Given the description of an element on the screen output the (x, y) to click on. 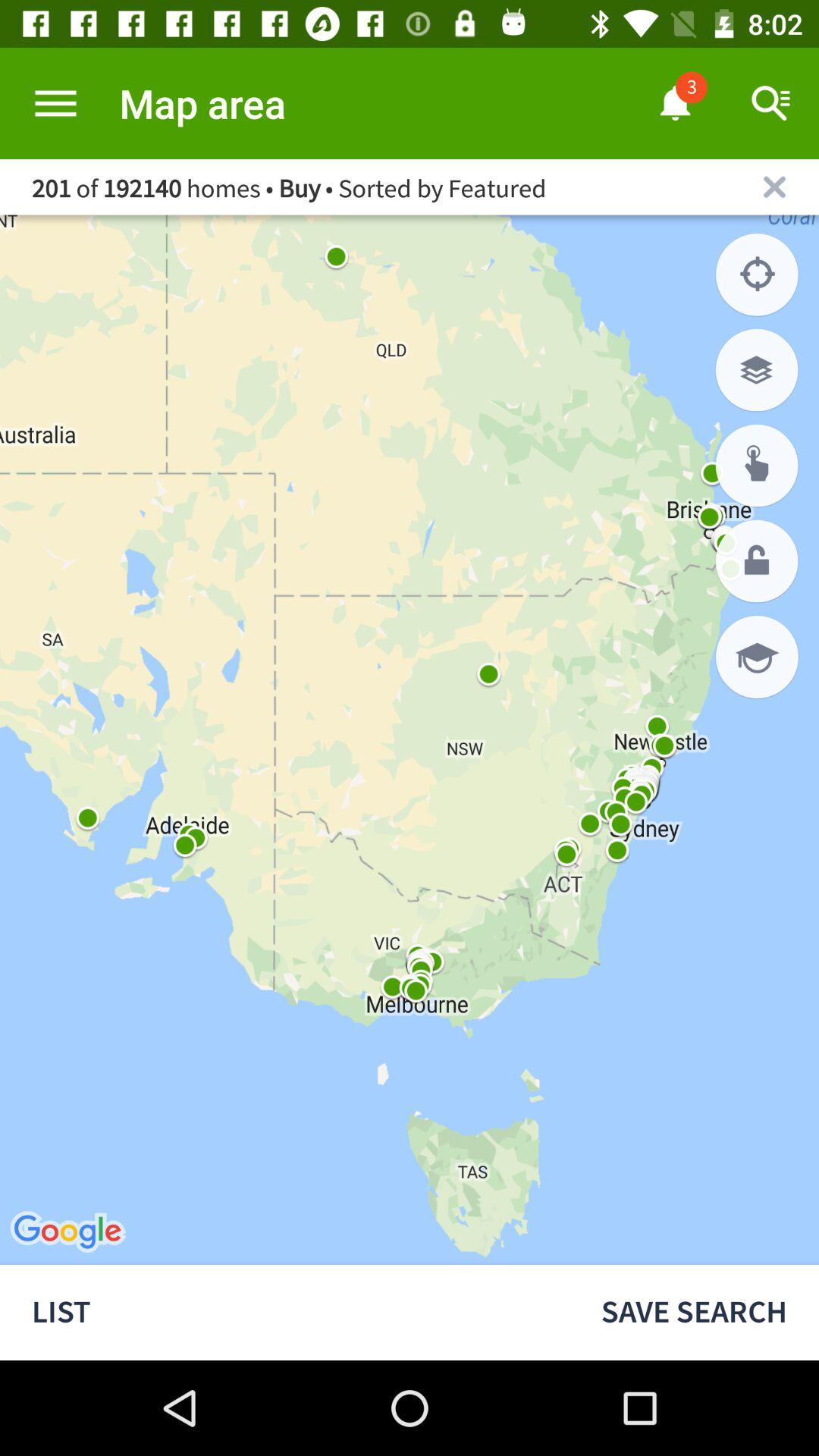
close (774, 186)
